Given the description of an element on the screen output the (x, y) to click on. 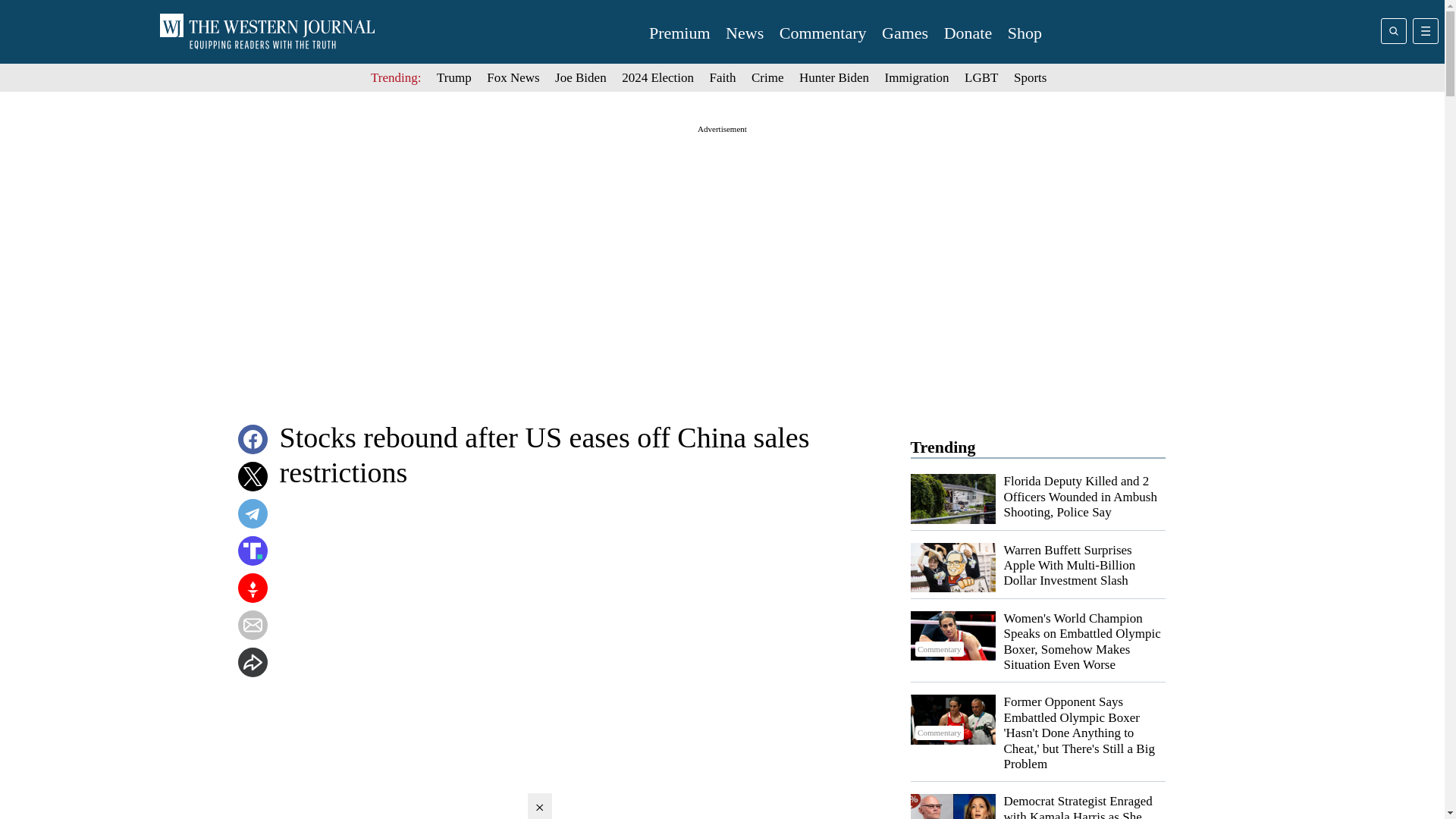
Trump (453, 77)
2024 Election (657, 77)
Sports (1029, 77)
Premium (679, 32)
Hunter Biden (834, 77)
Donate (967, 32)
Fox News (512, 77)
Commentary (952, 635)
